Given the description of an element on the screen output the (x, y) to click on. 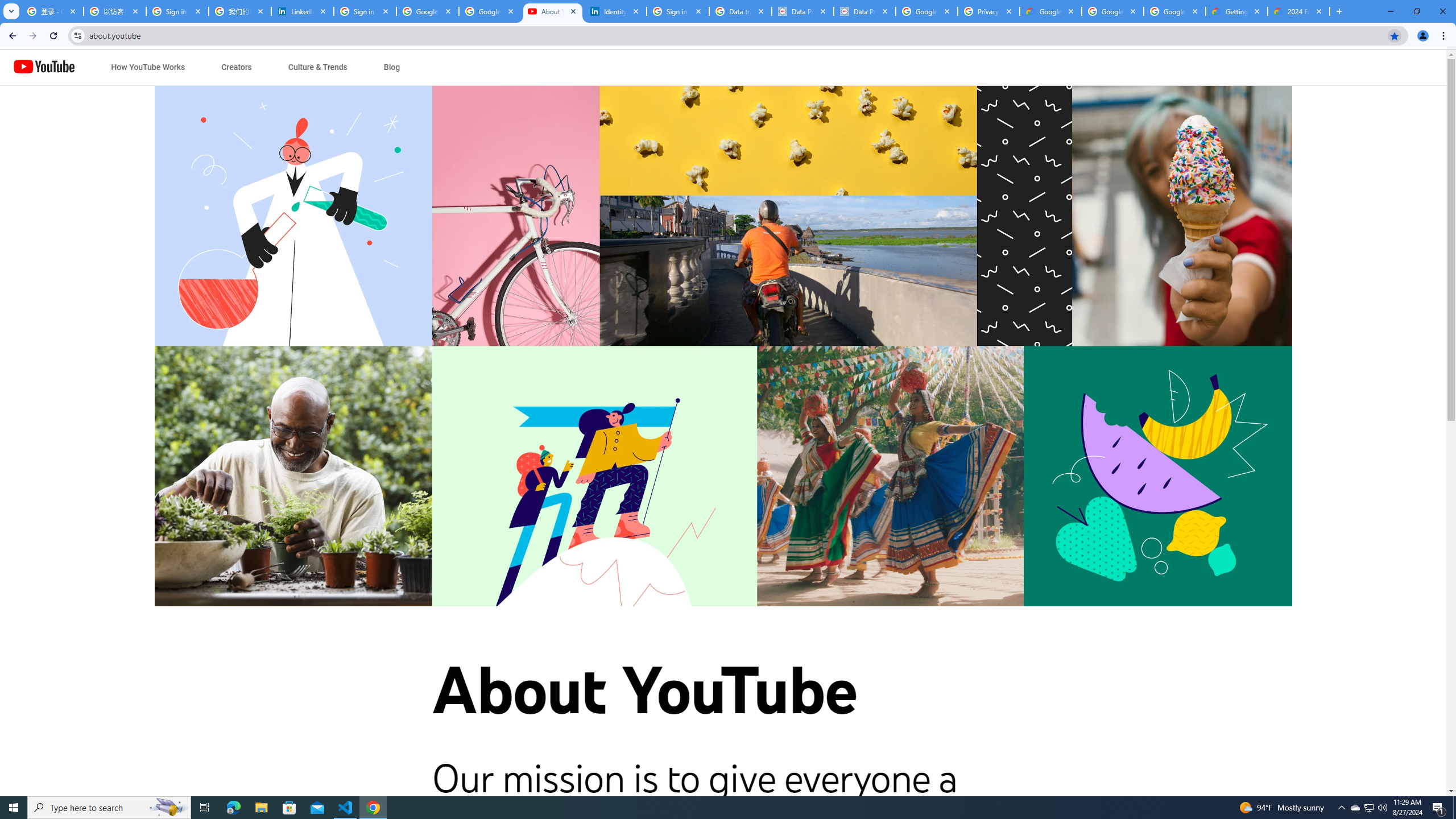
Jump to content (105, 67)
Sign in - Google Accounts (678, 11)
About YouTube - YouTube (552, 11)
Google Cloud Terms Directory | Google Cloud (1050, 11)
